Given the description of an element on the screen output the (x, y) to click on. 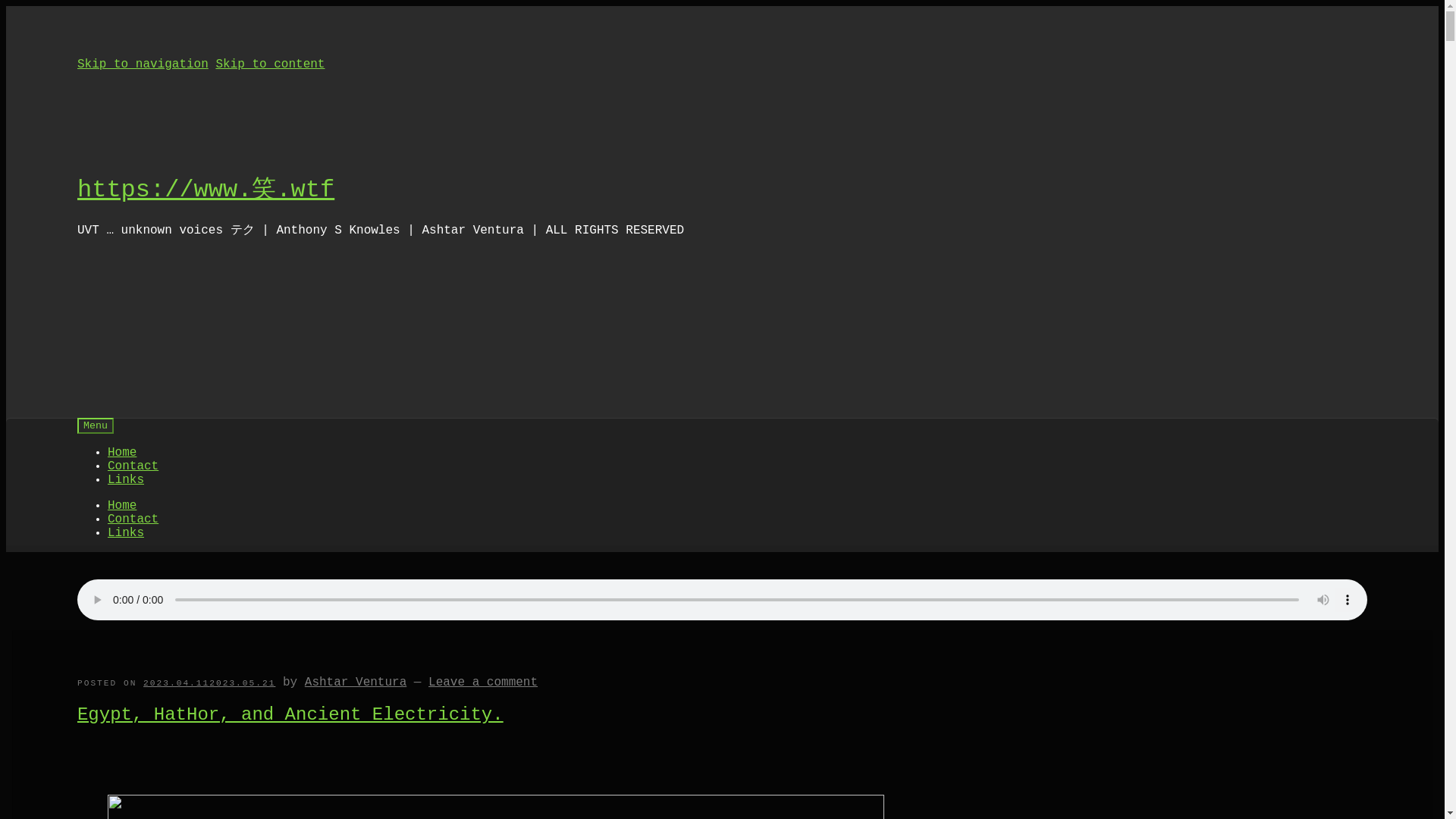
Contact (132, 466)
Contact (132, 519)
Ashtar Ventura (355, 682)
Menu (95, 425)
Home (121, 505)
Links (125, 532)
Home (121, 452)
Leave a comment (482, 682)
Links (125, 479)
Egypt, HatHor, and Ancient Electricity. (290, 714)
